Given the description of an element on the screen output the (x, y) to click on. 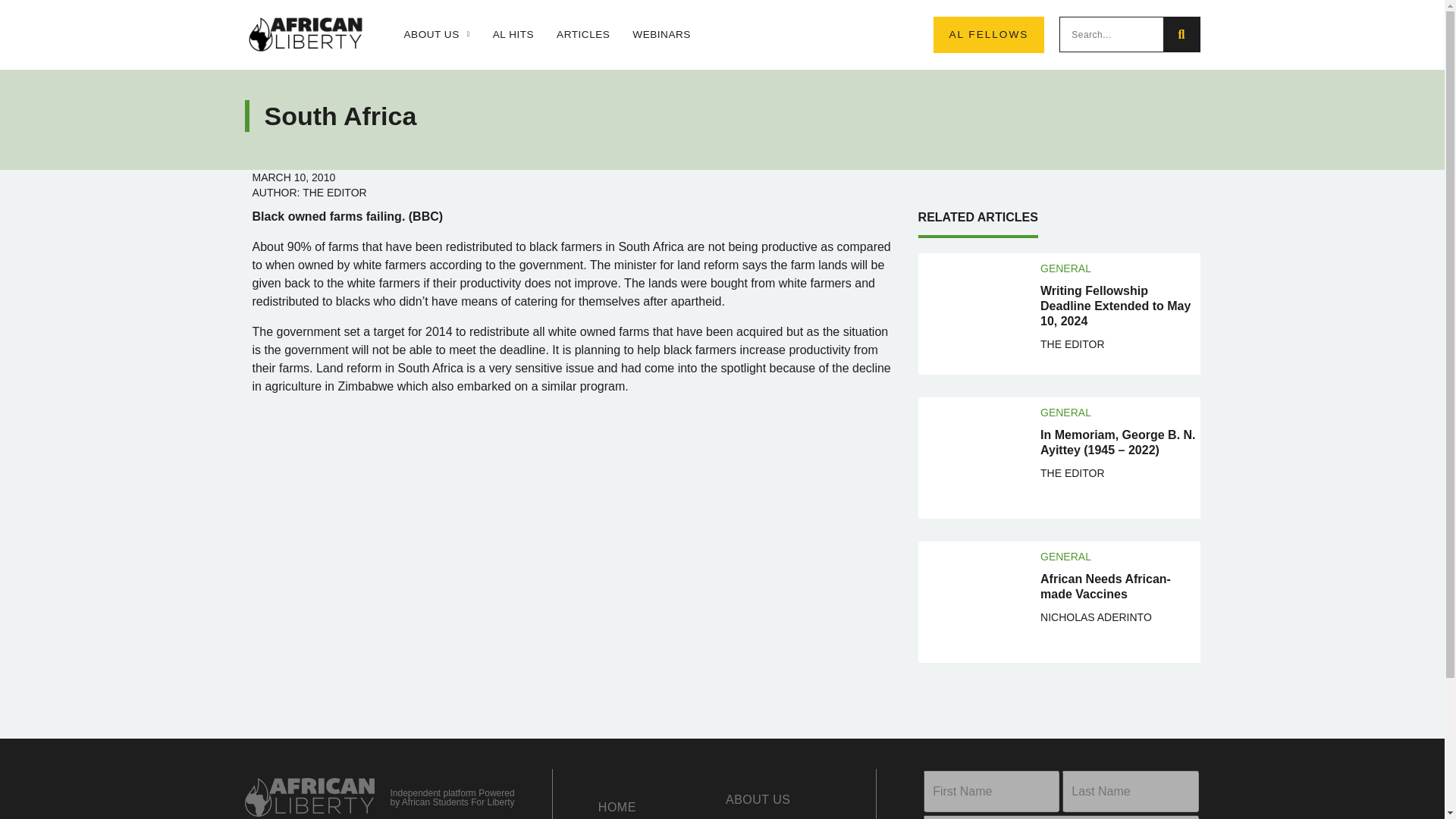
AL HITS (513, 34)
ARTICLES (583, 34)
First Name (991, 791)
AL FELLOWS (988, 34)
Last Name (1130, 791)
WEBINARS (660, 34)
Email (1060, 816)
ABOUT US (435, 34)
